Given the description of an element on the screen output the (x, y) to click on. 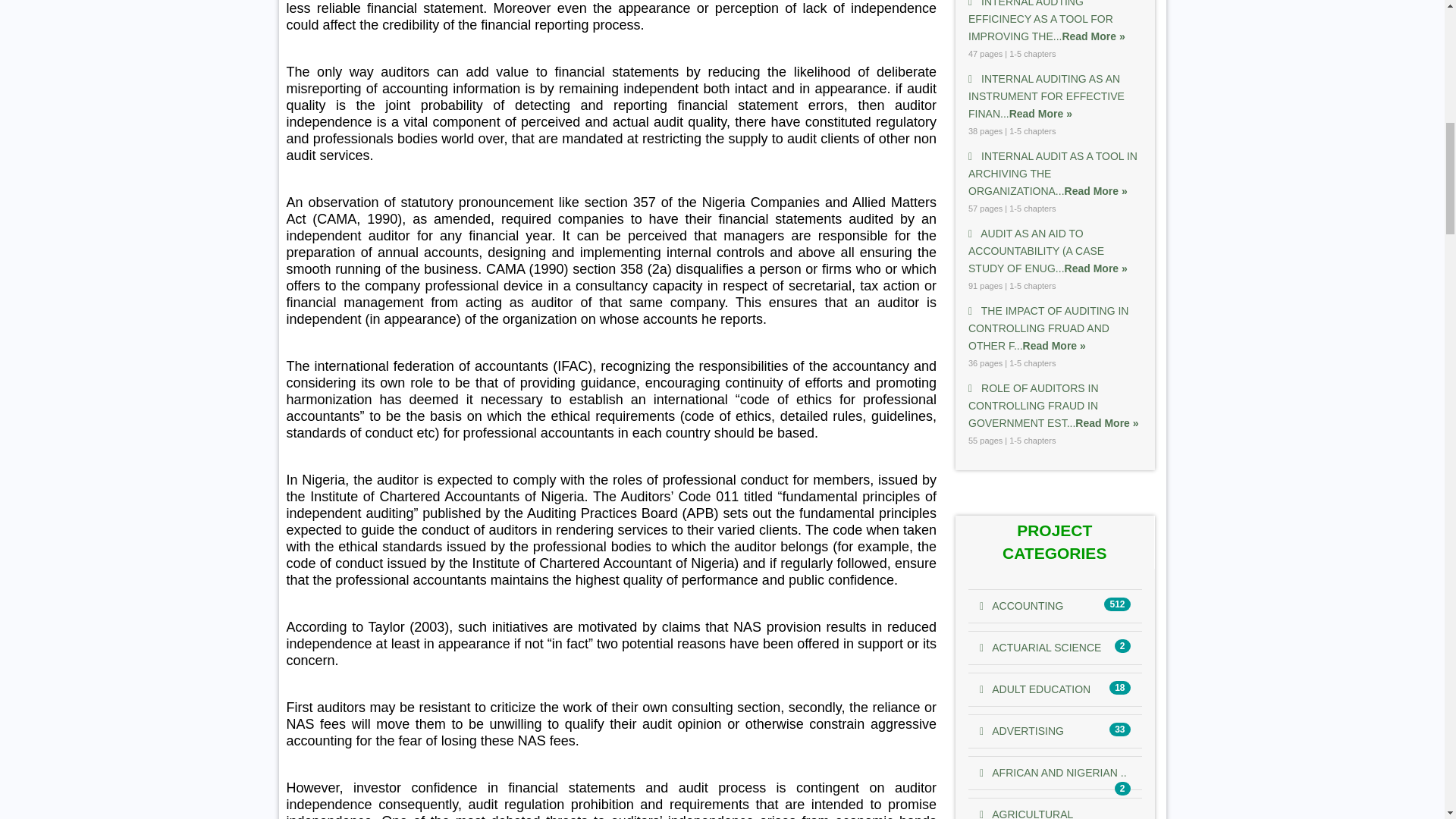
ADULT EDUCATION PROJECT TOPICS AND RESEARCH MATERIALS (1034, 689)
ACTUARIAL SCIENCE PROJECT TOPICS AND RESEARCH MATERIALS (1039, 647)
ACCOUNTING PROJECT TOPICS AND RESEARCH MATERIALS (1020, 605)
ADVERTISING PROJECT TOPICS AND RESEARCH MATERIALS (1021, 730)
AGRICULTURAL ECONOMICS PROJECT TOPICS AND RESEARCH MATERIALS (1026, 813)
